Given the description of an element on the screen output the (x, y) to click on. 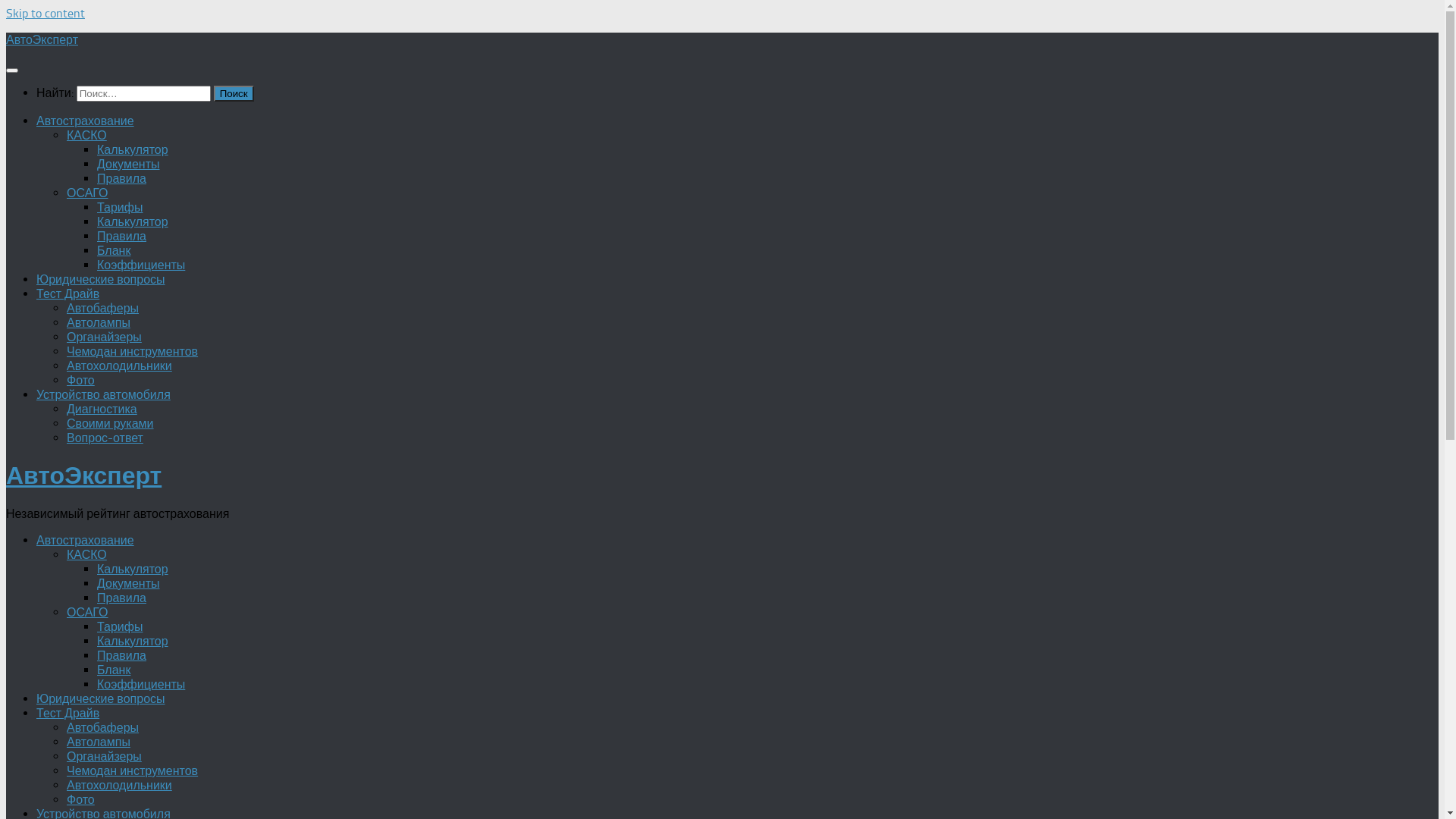
Skip to content Element type: text (45, 13)
Menu Element type: hover (12, 70)
